Given the description of an element on the screen output the (x, y) to click on. 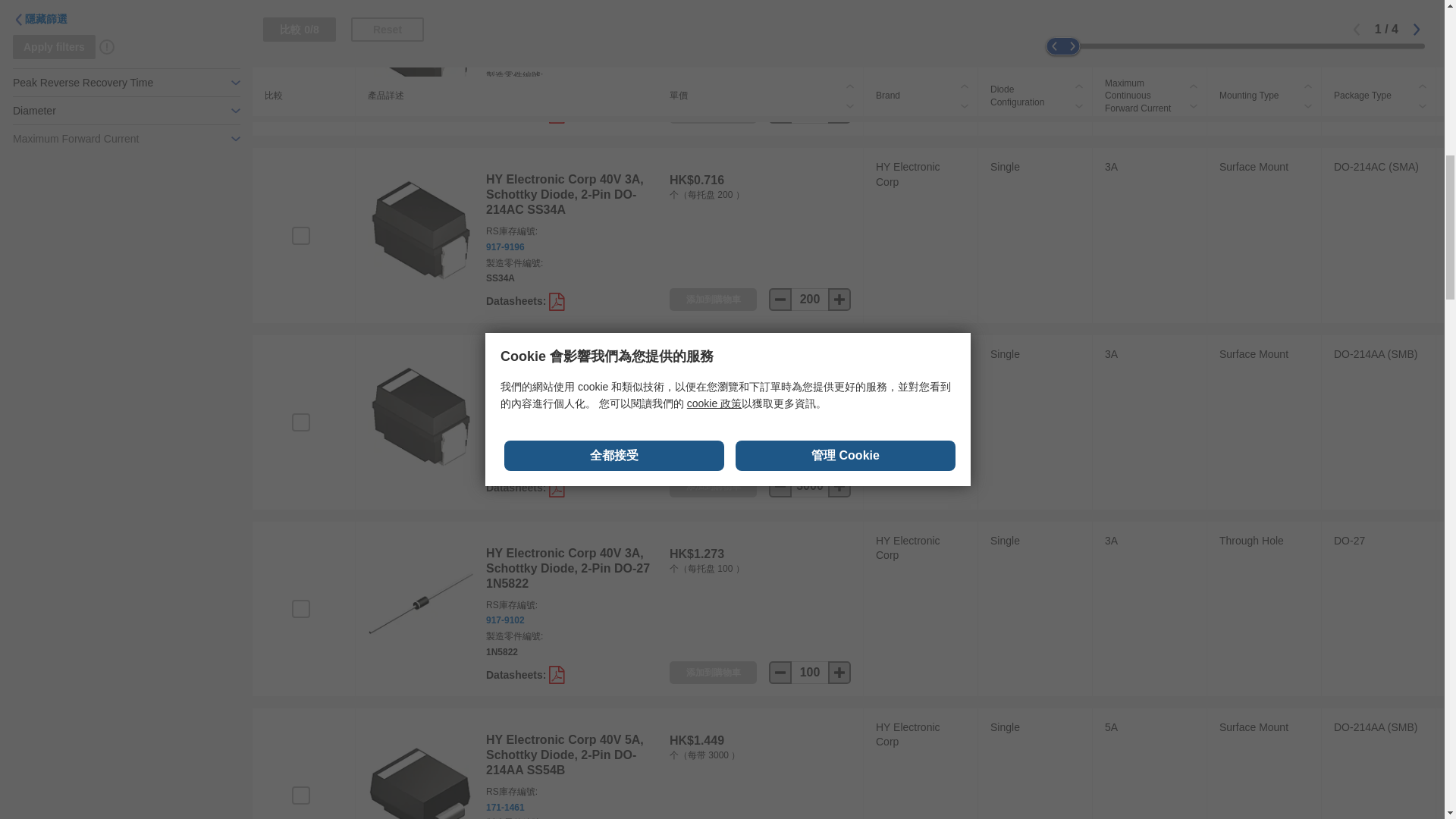
on (299, 235)
on (299, 608)
100 (810, 671)
on (299, 48)
3000 (810, 486)
on (299, 422)
on (299, 795)
200 (810, 299)
5000 (810, 111)
